Given the description of an element on the screen output the (x, y) to click on. 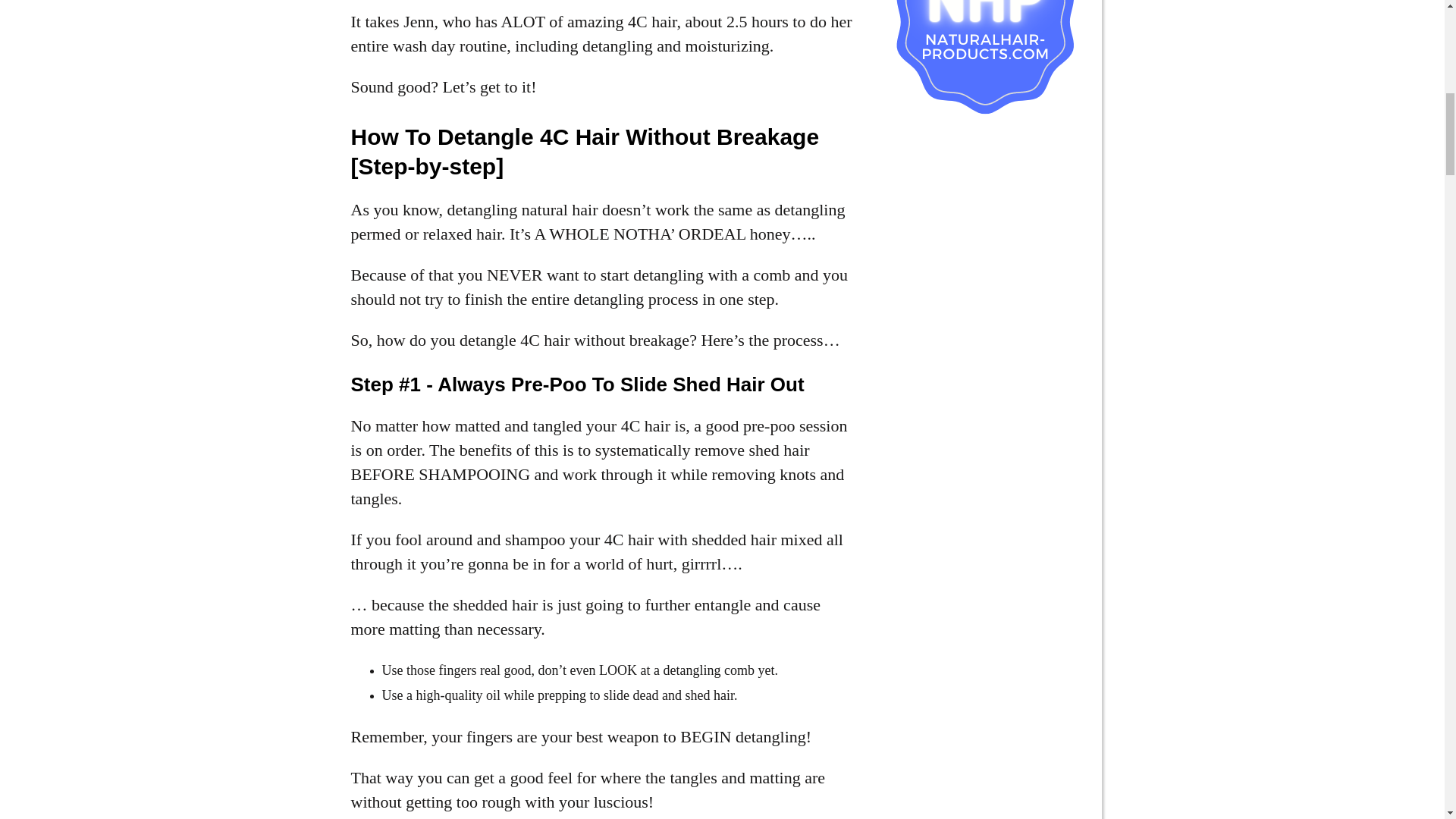
NHP naturalhair-products.com (983, 58)
